Given the description of an element on the screen output the (x, y) to click on. 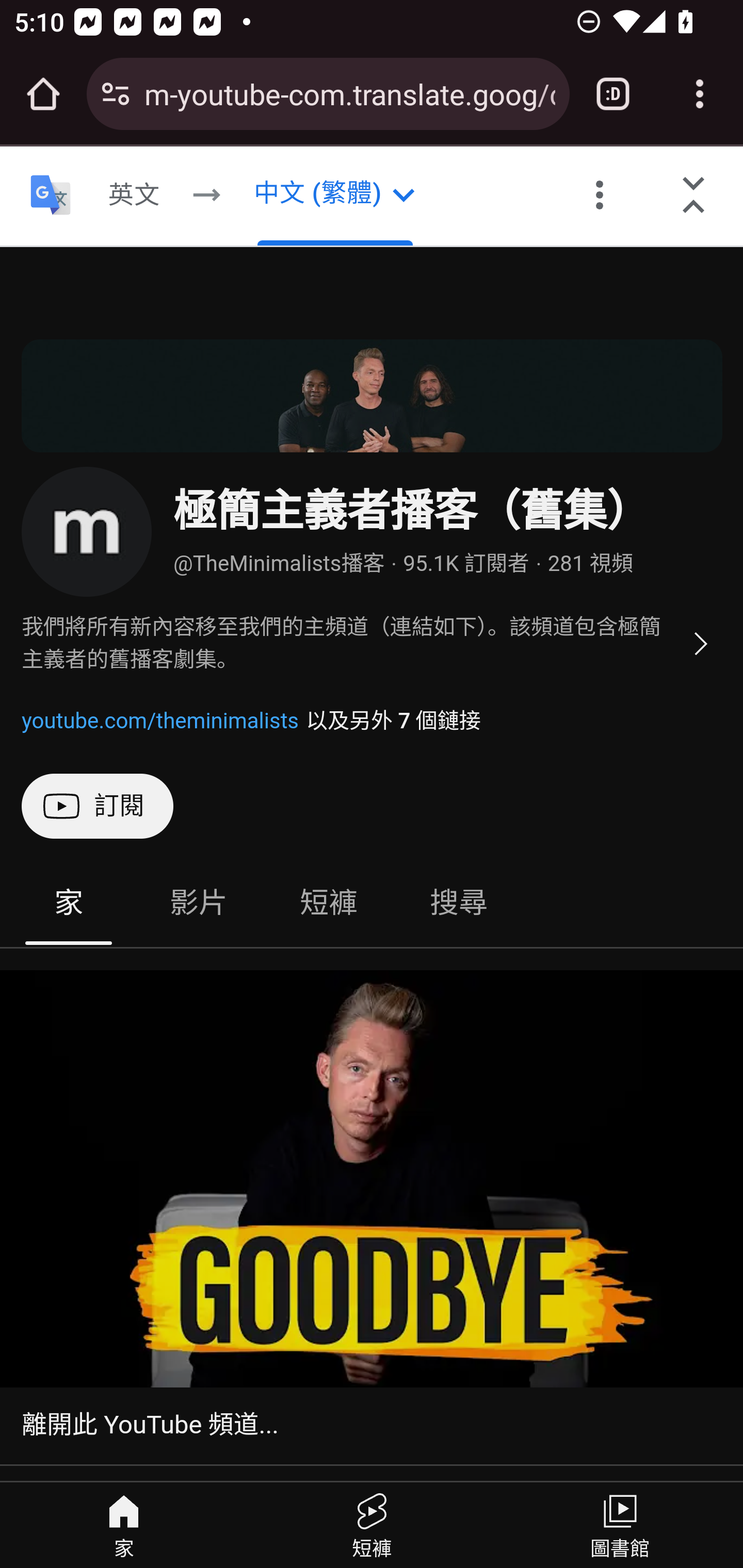
Open the home page (43, 93)
Connection is secure (115, 93)
Switch or close tabs (612, 93)
Customize and control Google Chrome (699, 93)
Youtube (48, 188)
英文 (134, 195)
中文 (繁體)  (334, 195)
「更多」選單中的選項 (600, 195)
收合 Google 翻譯導覽列 (694, 195)
我們將所有新內容移至我們的主頻道（連結如下）。該頻道包含極簡主義者的舊播客劇集。 (372, 643)
youtube.com/theminimalists (160, 720)
以及另外 7 個鏈接 (393, 720)
訂閱 (97, 805)
家 (69, 903)
影片 (198, 903)
短褲 (329, 903)
搜尋 (458, 903)
家 (124, 1524)
短褲 (371, 1524)
圖書館 (618, 1524)
